Given the description of an element on the screen output the (x, y) to click on. 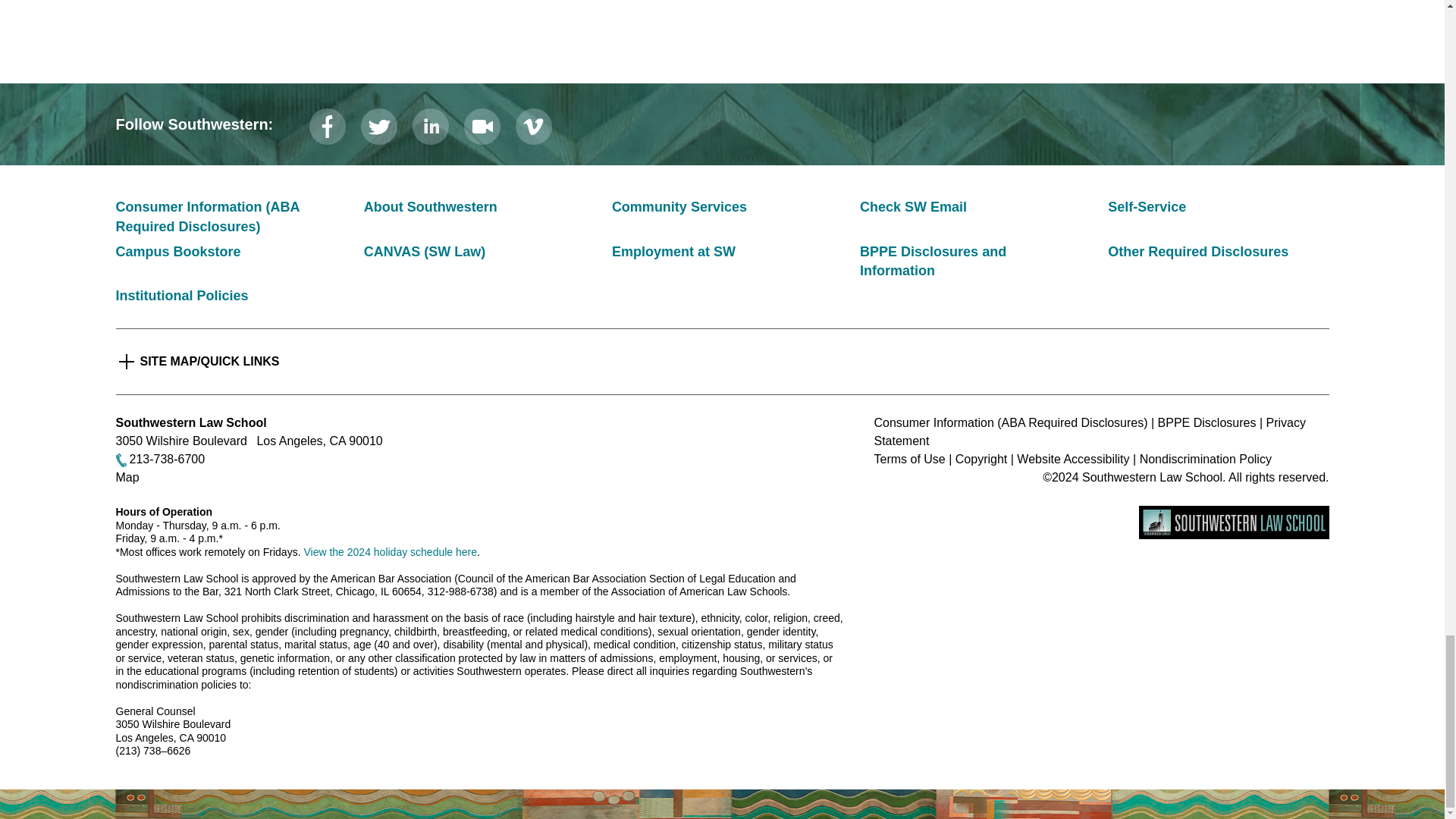
Form 0 (721, 16)
On-Campus Bookstore is in Westmoreland basement (177, 251)
